Given the description of an element on the screen output the (x, y) to click on. 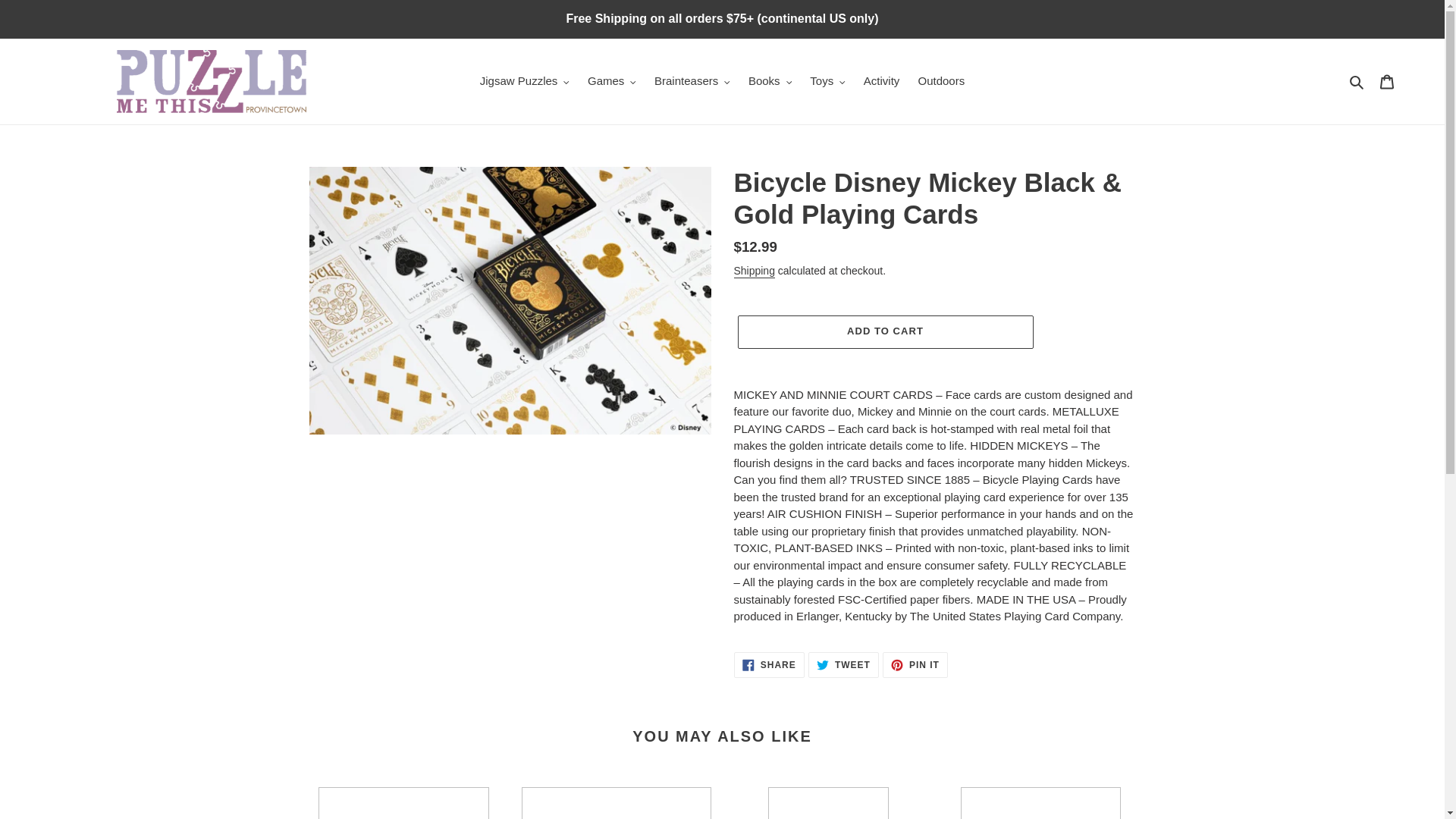
Brainteasers (692, 81)
Jigsaw Puzzles (523, 81)
Games (611, 81)
Books (770, 81)
Toys (826, 81)
